Given the description of an element on the screen output the (x, y) to click on. 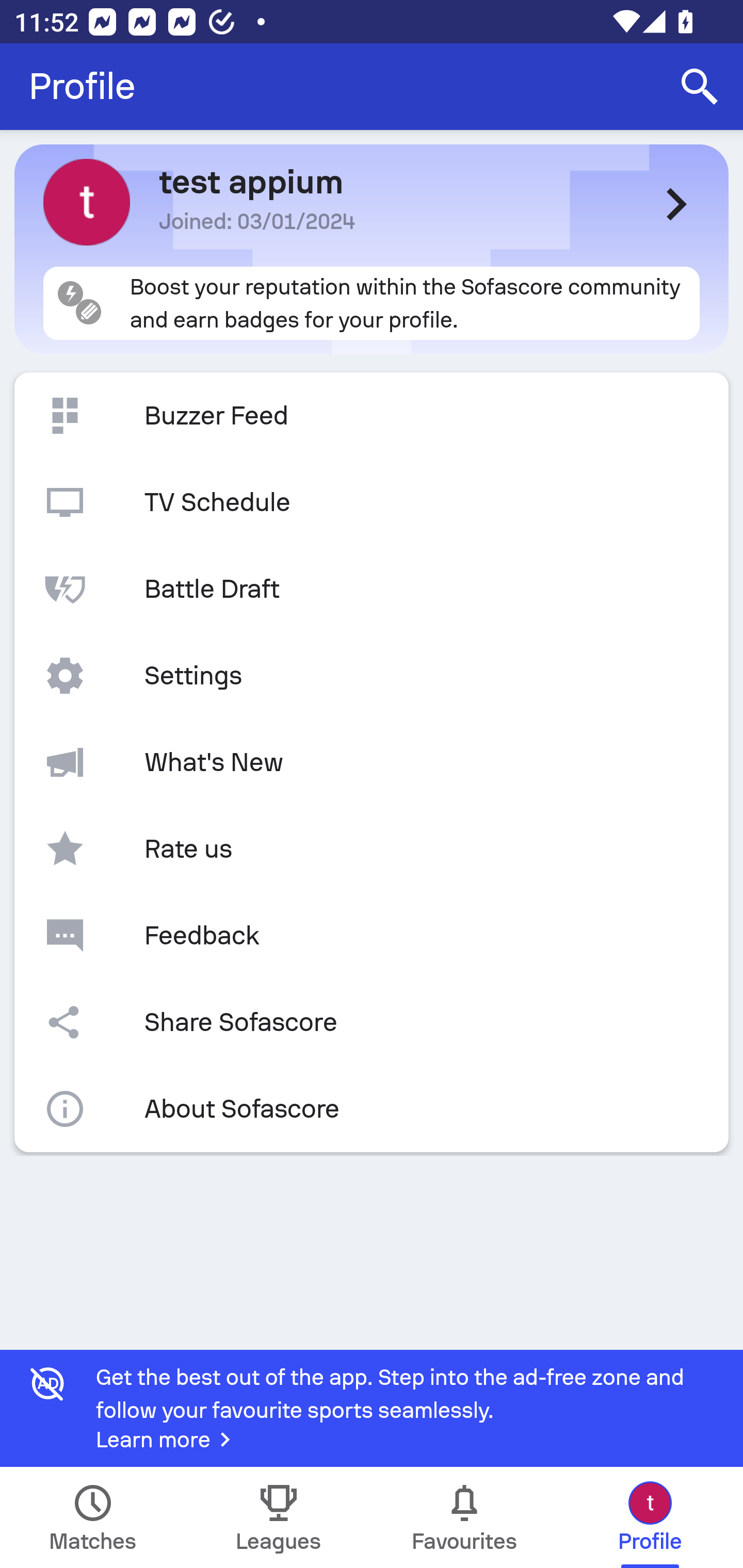
Profile (81, 86)
Search (699, 86)
Buzzer Feed (371, 416)
TV Schedule (371, 502)
Battle Draft (371, 588)
Settings (371, 675)
What's New (371, 762)
Rate us (371, 848)
Feedback (371, 935)
Share Sofascore (371, 1022)
About Sofascore (371, 1109)
Matches (92, 1517)
Leagues (278, 1517)
Favourites (464, 1517)
